Given the description of an element on the screen output the (x, y) to click on. 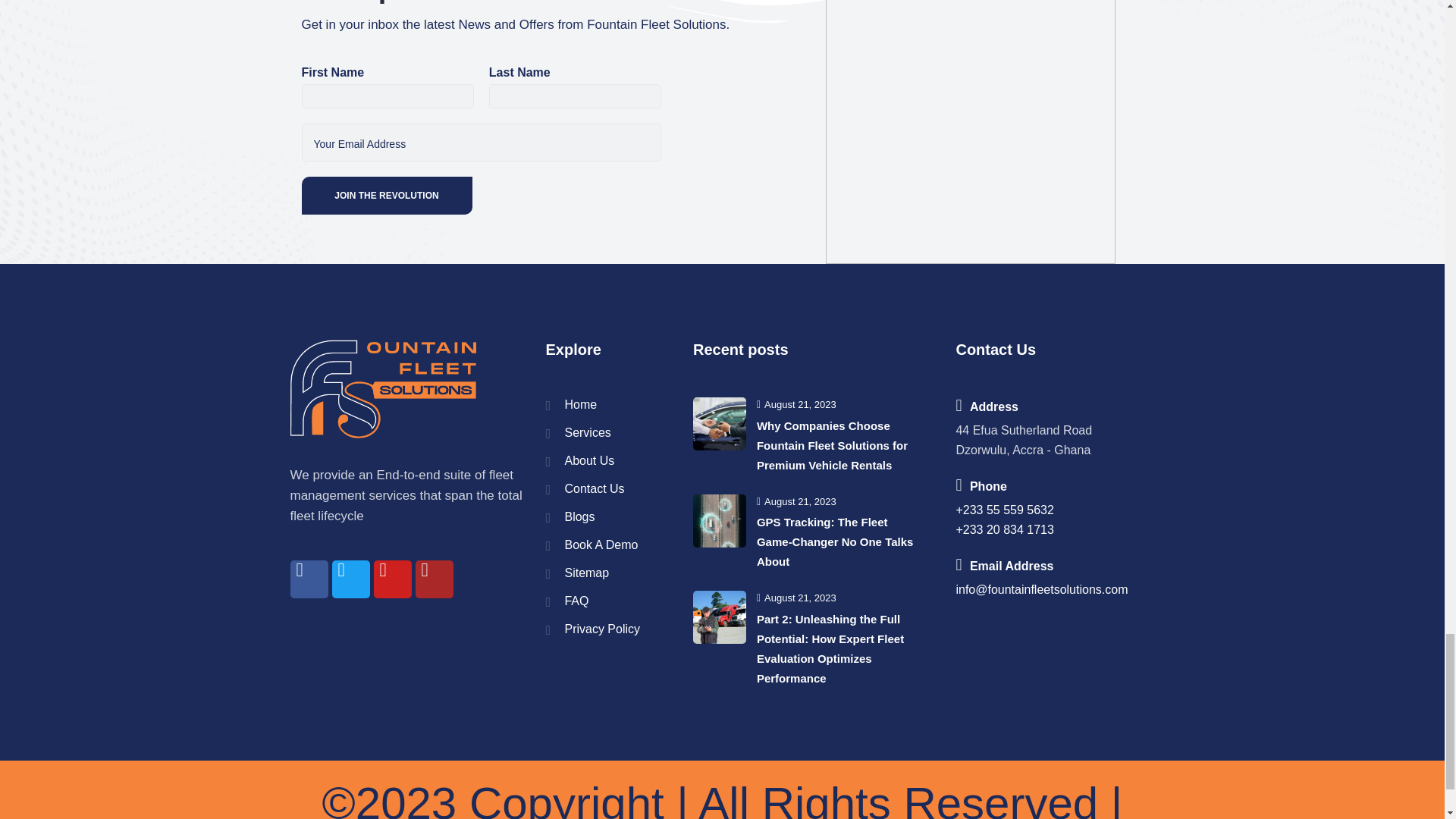
Join the revolution (386, 195)
